Given the description of an element on the screen output the (x, y) to click on. 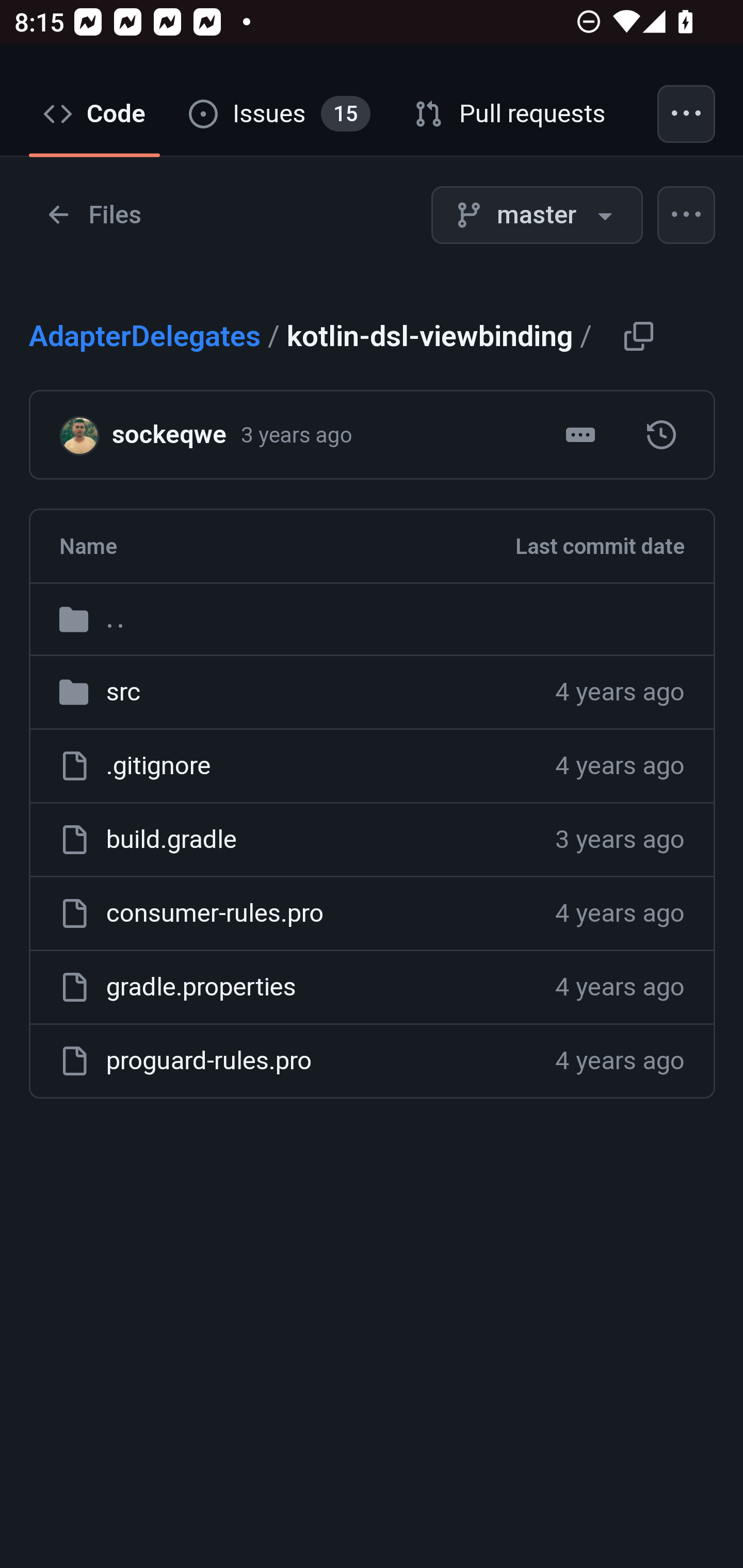
Additional navigation options (686, 114)
Code (94, 114)
Issues 15 Issues 15 (279, 114)
Pull requests (510, 114)
Expand file tree (93, 215)
master branch (536, 215)
More options (686, 215)
Copy path (638, 336)
AdapterDelegates (144, 336)
Open commit details (580, 435)
kotlin-dsl-viewbinding (661, 435)
sockeqwe (85, 434)
commits by sockeqwe sockeqwe (168, 435)
Parent directory .. (371, 619)
src, (Directory) src (122, 692)
.gitignore, (File) .gitignore (157, 767)
build.gradle, (File) build.gradle (171, 840)
consumer-rules.pro, (File) consumer-rules.pro (214, 913)
gradle.properties, (File) gradle.properties (200, 987)
proguard-rules.pro, (File) proguard-rules.pro (208, 1062)
